Given the description of an element on the screen output the (x, y) to click on. 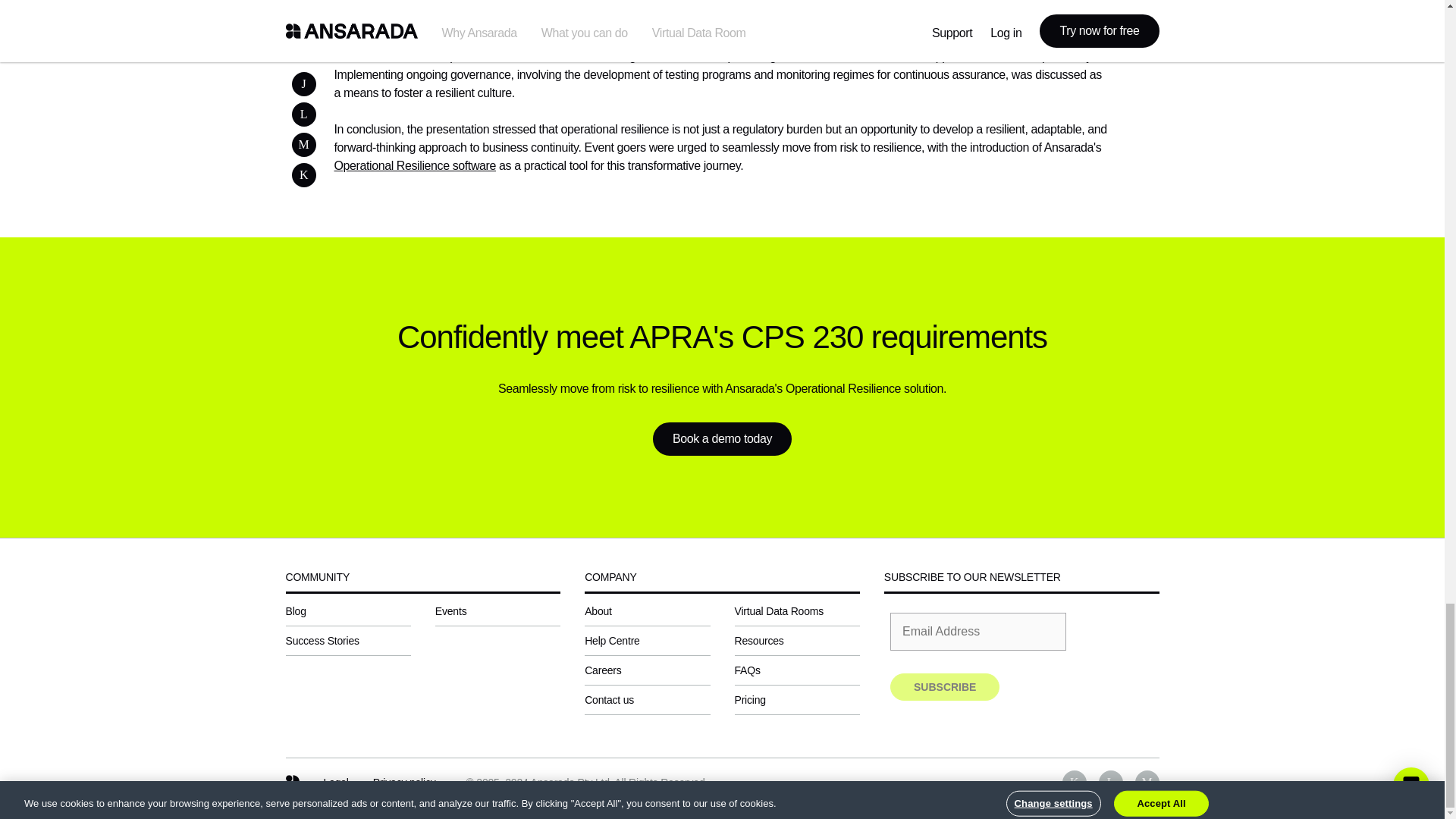
Form (1020, 656)
